Given the description of an element on the screen output the (x, y) to click on. 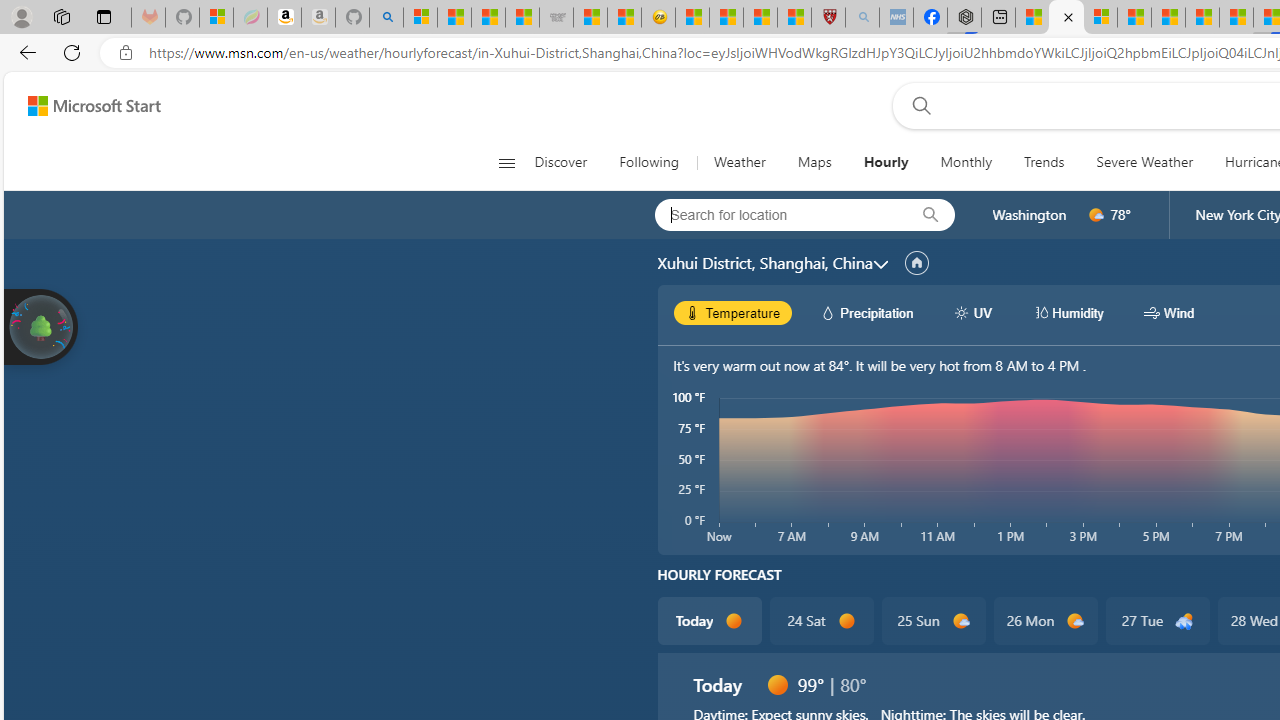
Monthly (966, 162)
hourlyChart/windWhite Wind (1169, 312)
Trends (1044, 162)
24 Sat d0000 (821, 620)
